Given the description of an element on the screen output the (x, y) to click on. 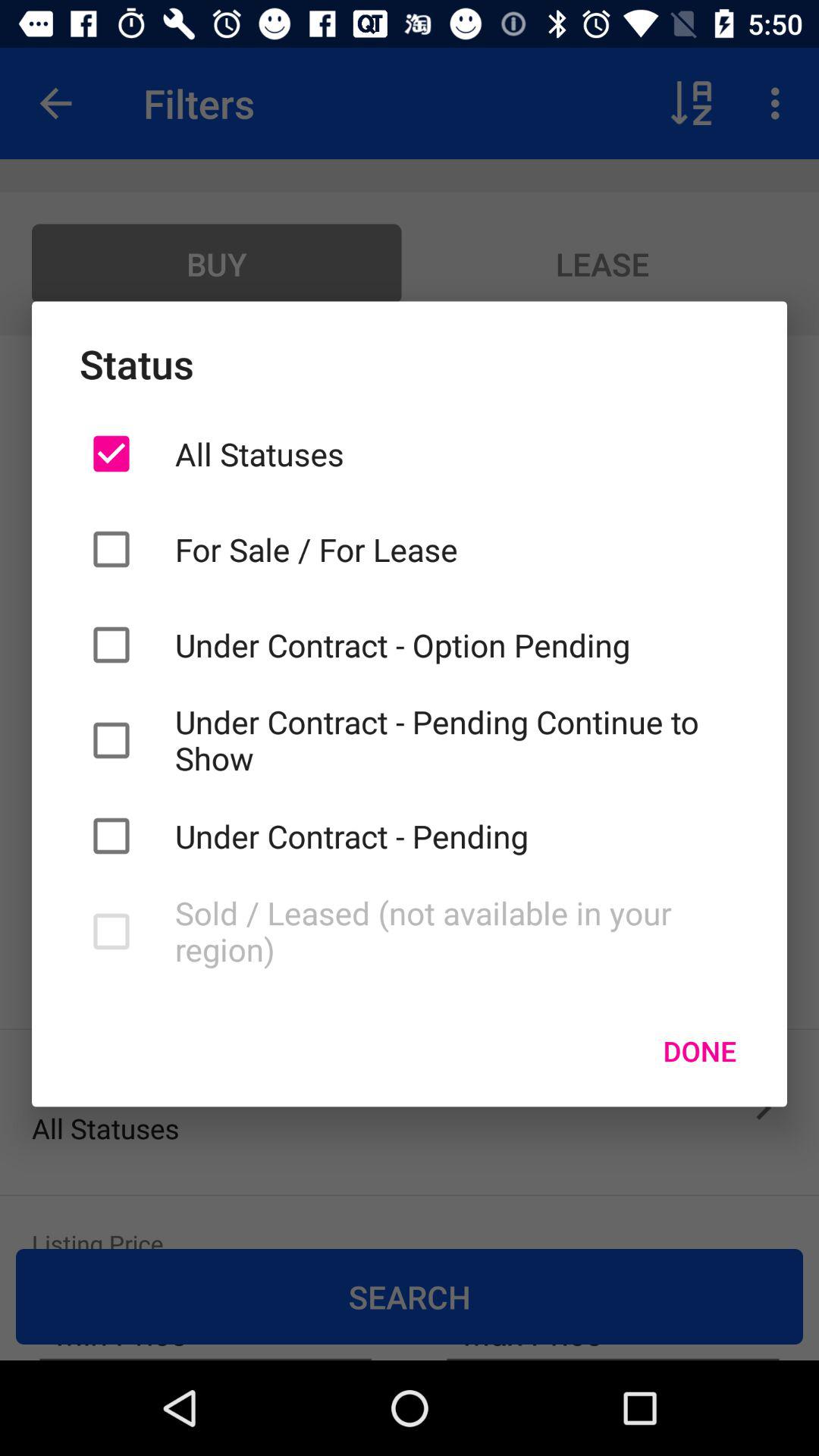
select the for sale for (457, 549)
